Given the description of an element on the screen output the (x, y) to click on. 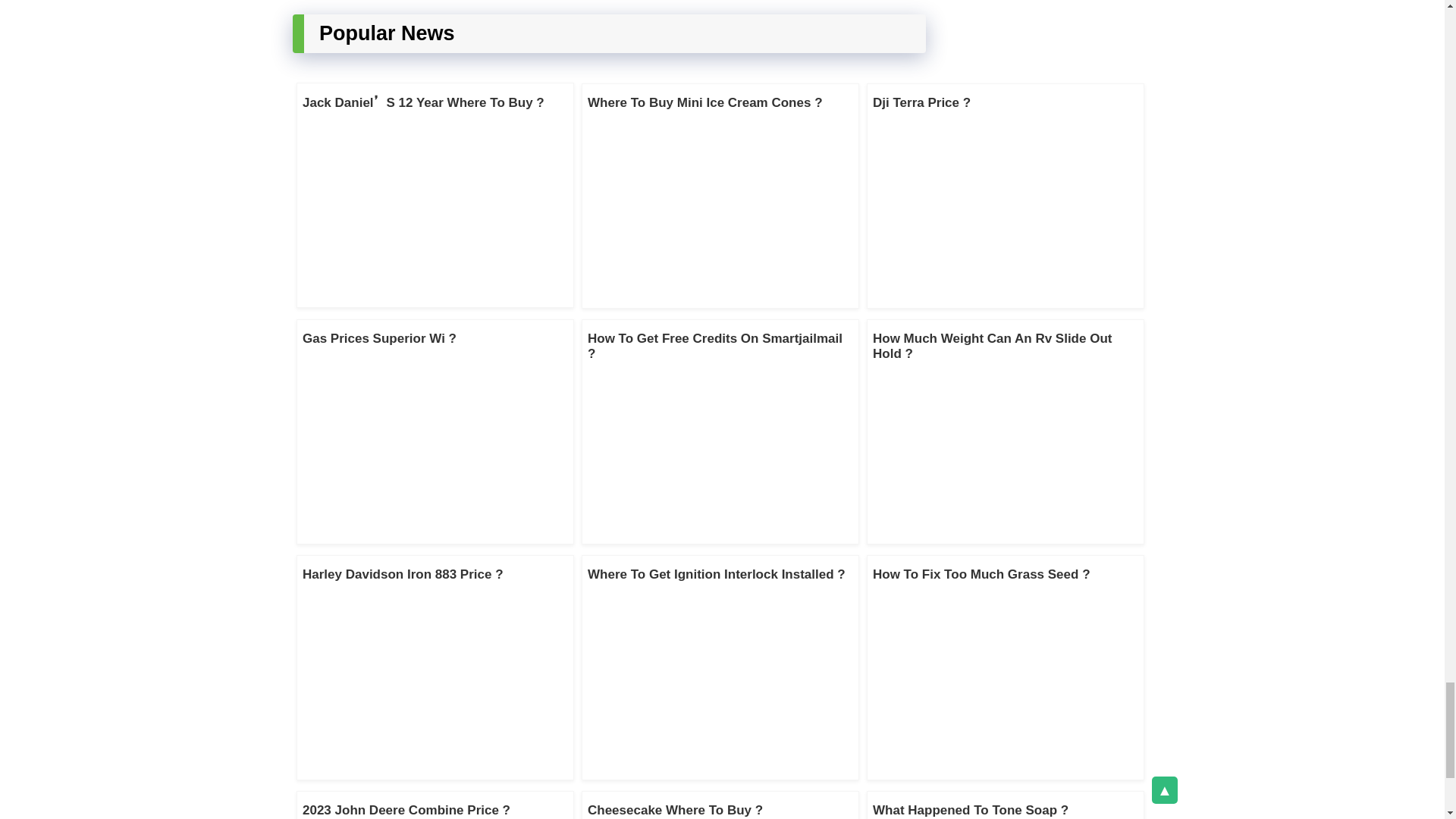
Cheesecake Where To Buy ? (675, 810)
How To Get Free Credits On Smartjailmail ? (715, 346)
Harley Davidson Iron 883 Price ? (402, 574)
Gas Prices Superior Wi ? (379, 338)
Where To Buy Mini Ice Cream Cones ? (705, 102)
2023 John Deere Combine Price ? (406, 810)
Where To Get Ignition Interlock Installed ? (716, 574)
